Given the description of an element on the screen output the (x, y) to click on. 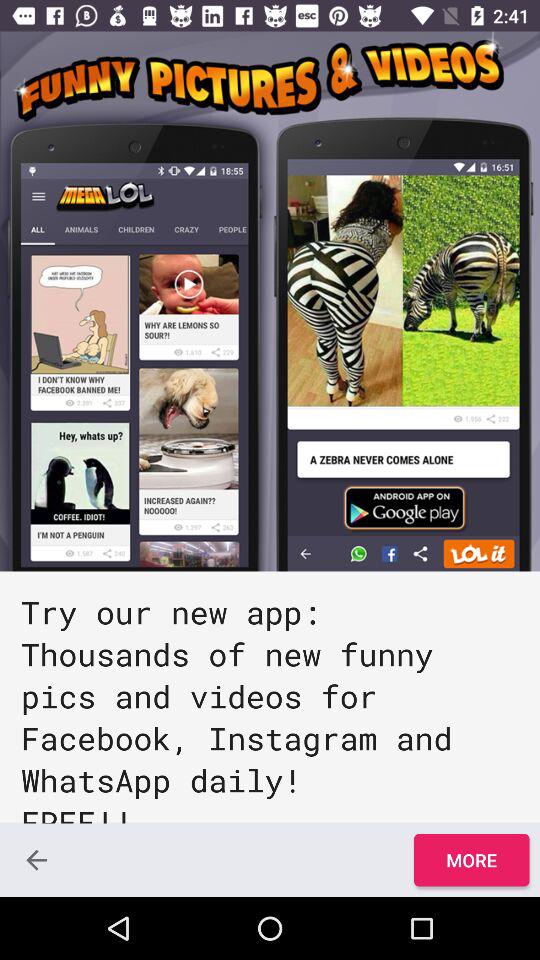
select more item (471, 859)
